Given the description of an element on the screen output the (x, y) to click on. 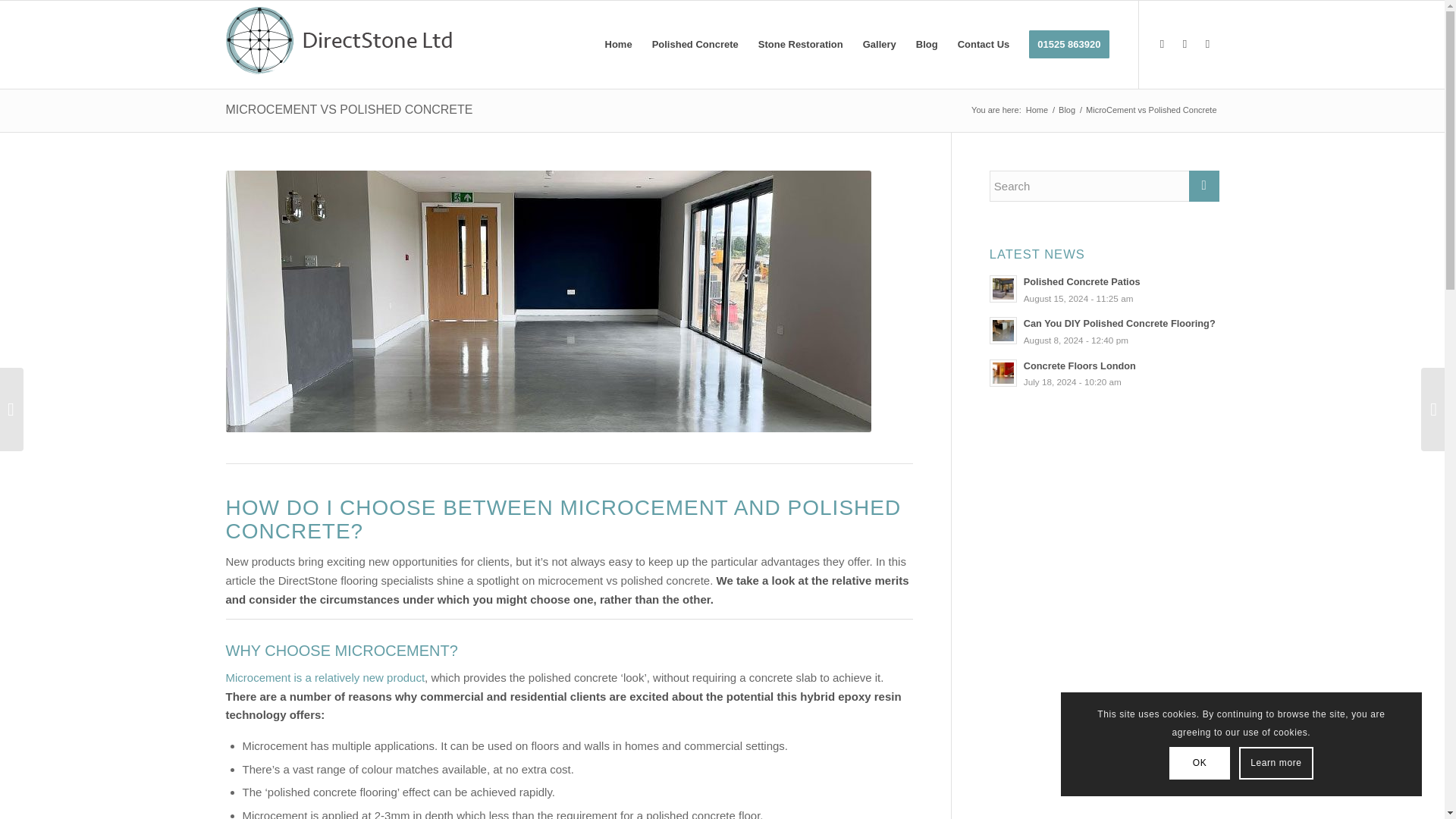
Microcement is a relatively new product (325, 676)
Stone Restoration (800, 44)
Stone Restoration (800, 44)
Polished Concrete (695, 44)
Polished Concrete (695, 44)
Blog (1067, 110)
MICROCEMENT VS POLISHED CONCRETE (349, 109)
Home (1036, 110)
01525 863920 (1068, 44)
